Given the description of an element on the screen output the (x, y) to click on. 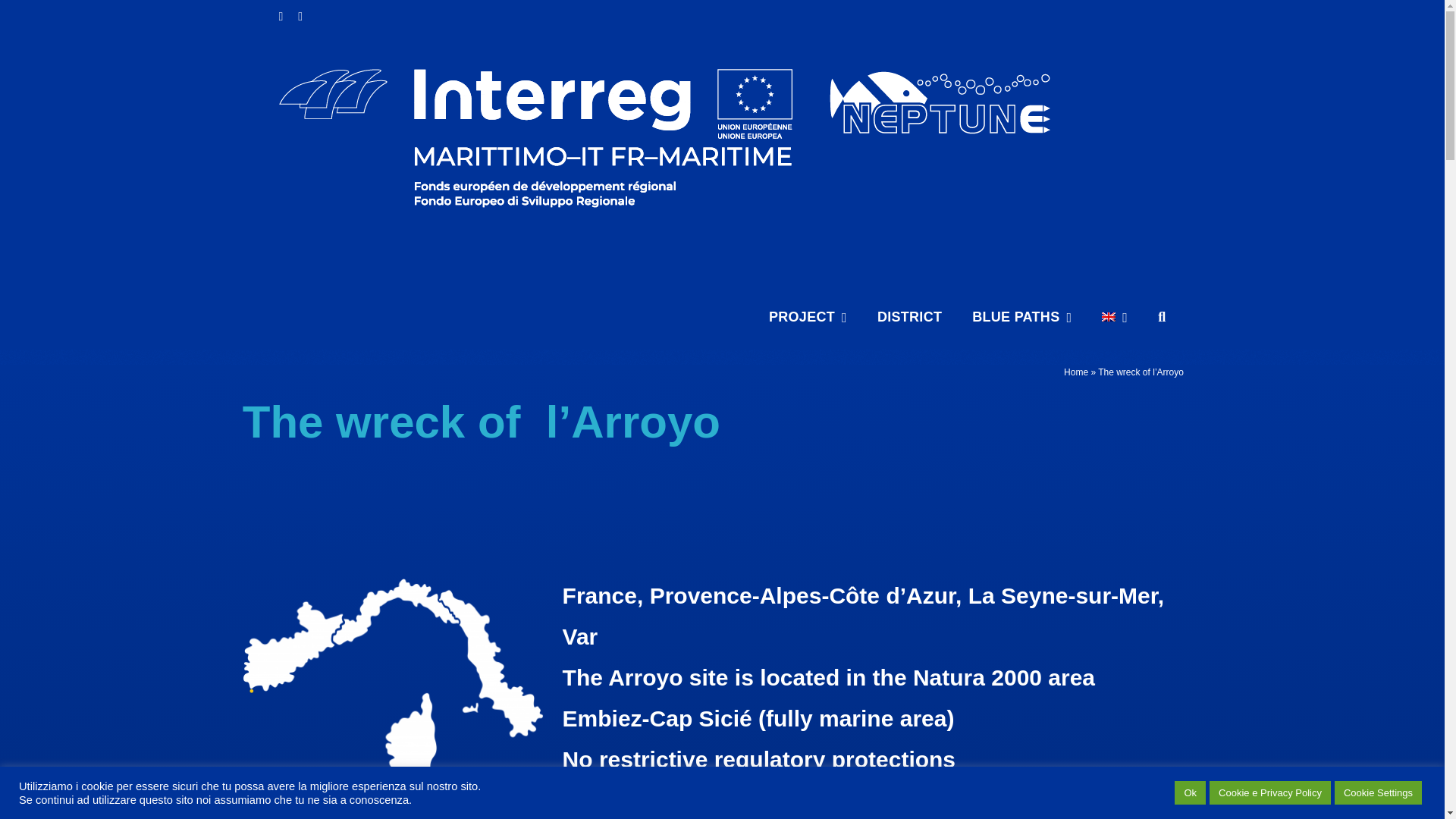
geolocalizzazione-arroyo (393, 697)
BLUE PATHS (1021, 316)
DISTRICT (909, 316)
PROJECT (807, 316)
